Given the description of an element on the screen output the (x, y) to click on. 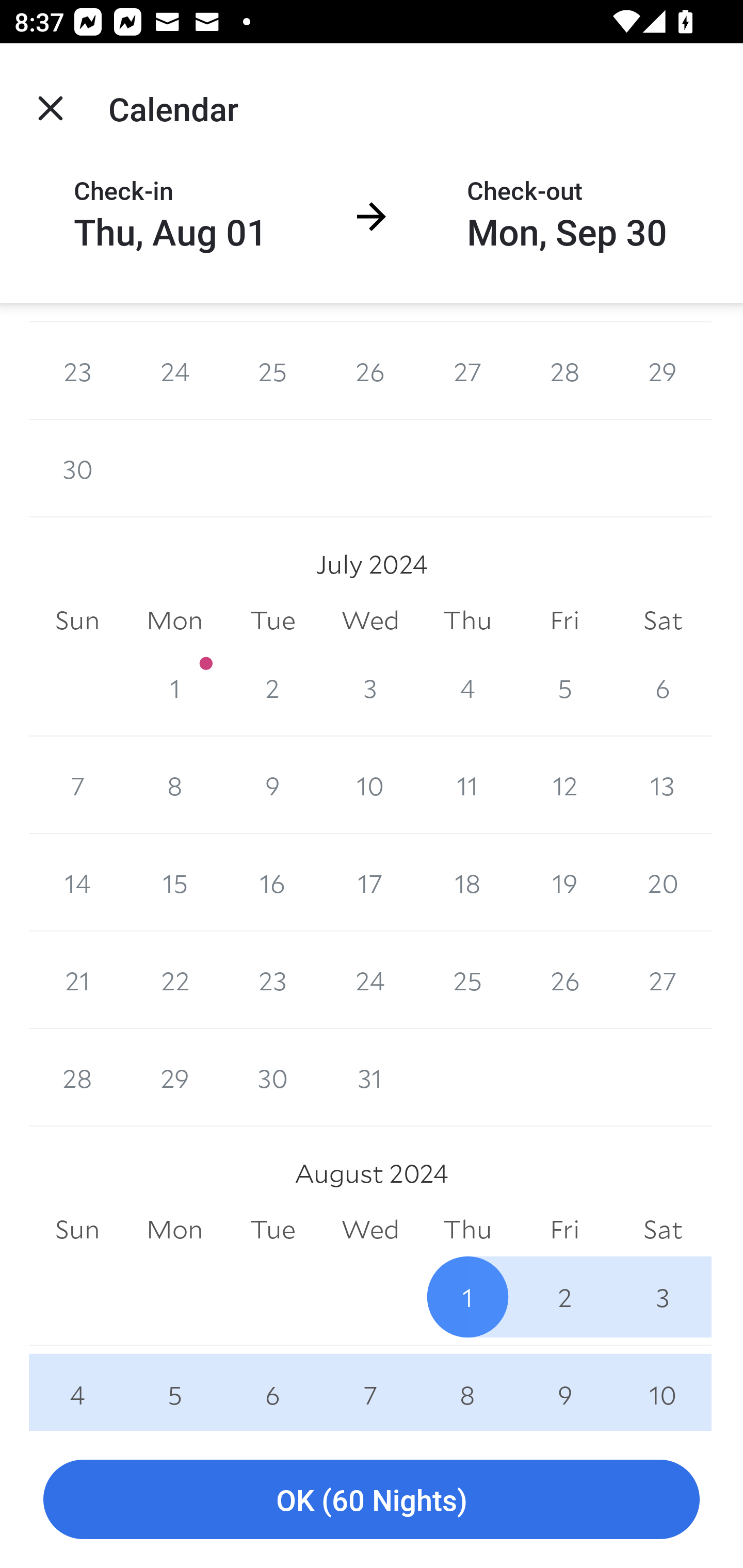
23 23 June 2024 (77, 371)
24 24 June 2024 (174, 371)
25 25 June 2024 (272, 371)
26 26 June 2024 (370, 371)
27 27 June 2024 (467, 371)
28 28 June 2024 (564, 371)
29 29 June 2024 (662, 371)
30 30 June 2024 (77, 468)
Sun (77, 620)
Mon (174, 620)
Tue (272, 620)
Wed (370, 620)
Thu (467, 620)
Fri (564, 620)
Sat (662, 620)
1 1 July 2024 (174, 687)
2 2 July 2024 (272, 687)
3 3 July 2024 (370, 687)
4 4 July 2024 (467, 687)
5 5 July 2024 (564, 687)
6 6 July 2024 (662, 687)
7 7 July 2024 (77, 785)
8 8 July 2024 (174, 785)
9 9 July 2024 (272, 785)
10 10 July 2024 (370, 785)
11 11 July 2024 (467, 785)
12 12 July 2024 (564, 785)
13 13 July 2024 (662, 785)
14 14 July 2024 (77, 882)
15 15 July 2024 (174, 882)
16 16 July 2024 (272, 882)
17 17 July 2024 (370, 882)
18 18 July 2024 (467, 882)
19 19 July 2024 (564, 882)
20 20 July 2024 (662, 882)
21 21 July 2024 (77, 979)
22 22 July 2024 (174, 979)
23 23 July 2024 (272, 979)
24 24 July 2024 (370, 979)
25 25 July 2024 (467, 979)
26 26 July 2024 (564, 979)
27 27 July 2024 (662, 979)
28 28 July 2024 (77, 1076)
29 29 July 2024 (174, 1076)
30 30 July 2024 (272, 1076)
31 31 July 2024 (370, 1076)
Sun (77, 1229)
Mon (174, 1229)
Tue (272, 1229)
Wed (370, 1229)
Thu (467, 1229)
Fri (564, 1229)
Sat (662, 1229)
1 1 August 2024 (467, 1296)
2 2 August 2024 (564, 1296)
3 3 August 2024 (662, 1296)
4 4 August 2024 (77, 1387)
5 5 August 2024 (174, 1387)
6 6 August 2024 (272, 1387)
7 7 August 2024 (370, 1387)
8 8 August 2024 (467, 1387)
9 9 August 2024 (564, 1387)
10 10 August 2024 (662, 1387)
OK (60 Nights) (371, 1499)
